Given the description of an element on the screen output the (x, y) to click on. 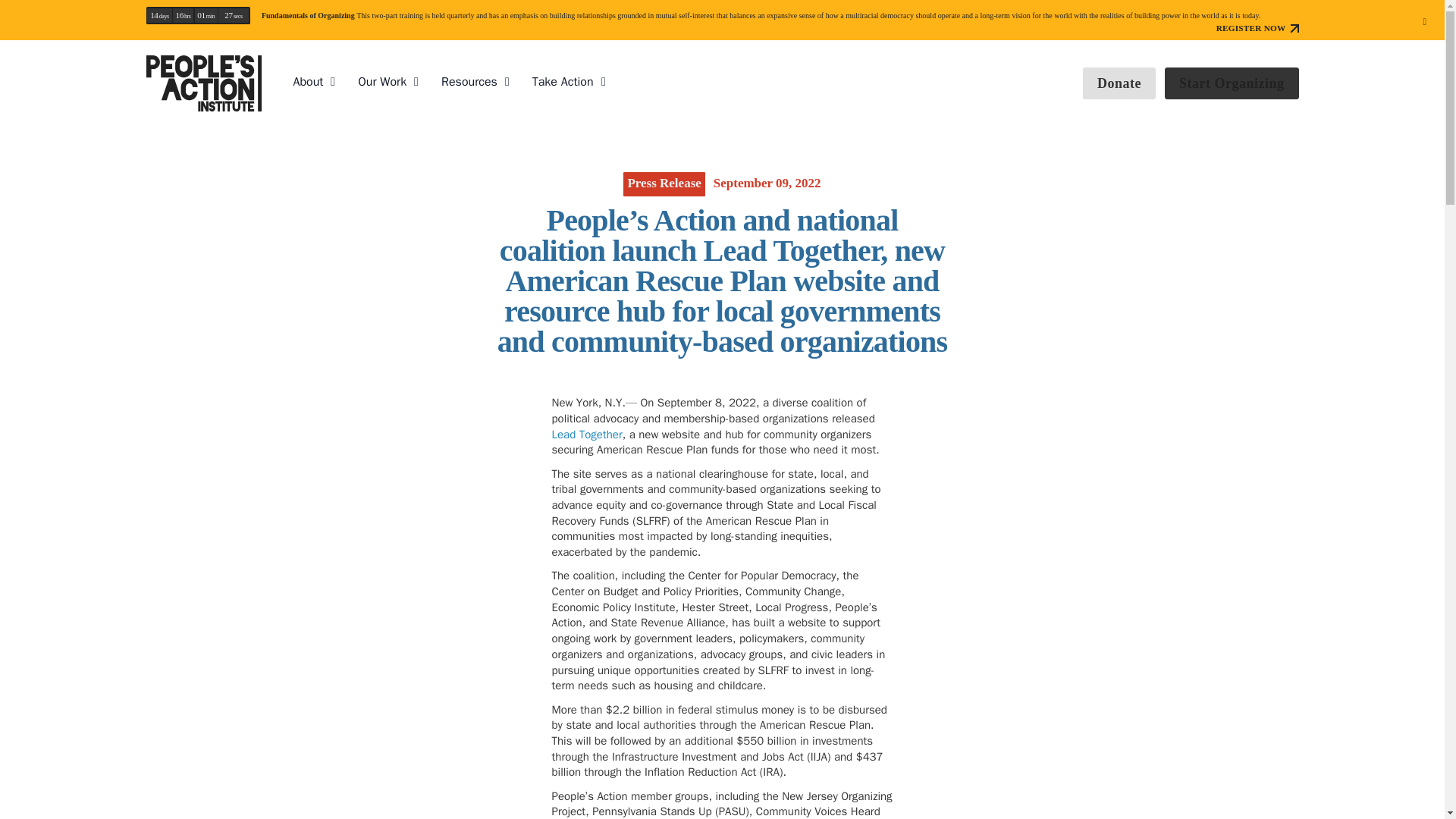
REGISTER NOW (1256, 28)
About (307, 81)
Resources (469, 81)
Our Work (382, 81)
Take Action (563, 81)
